Given the description of an element on the screen output the (x, y) to click on. 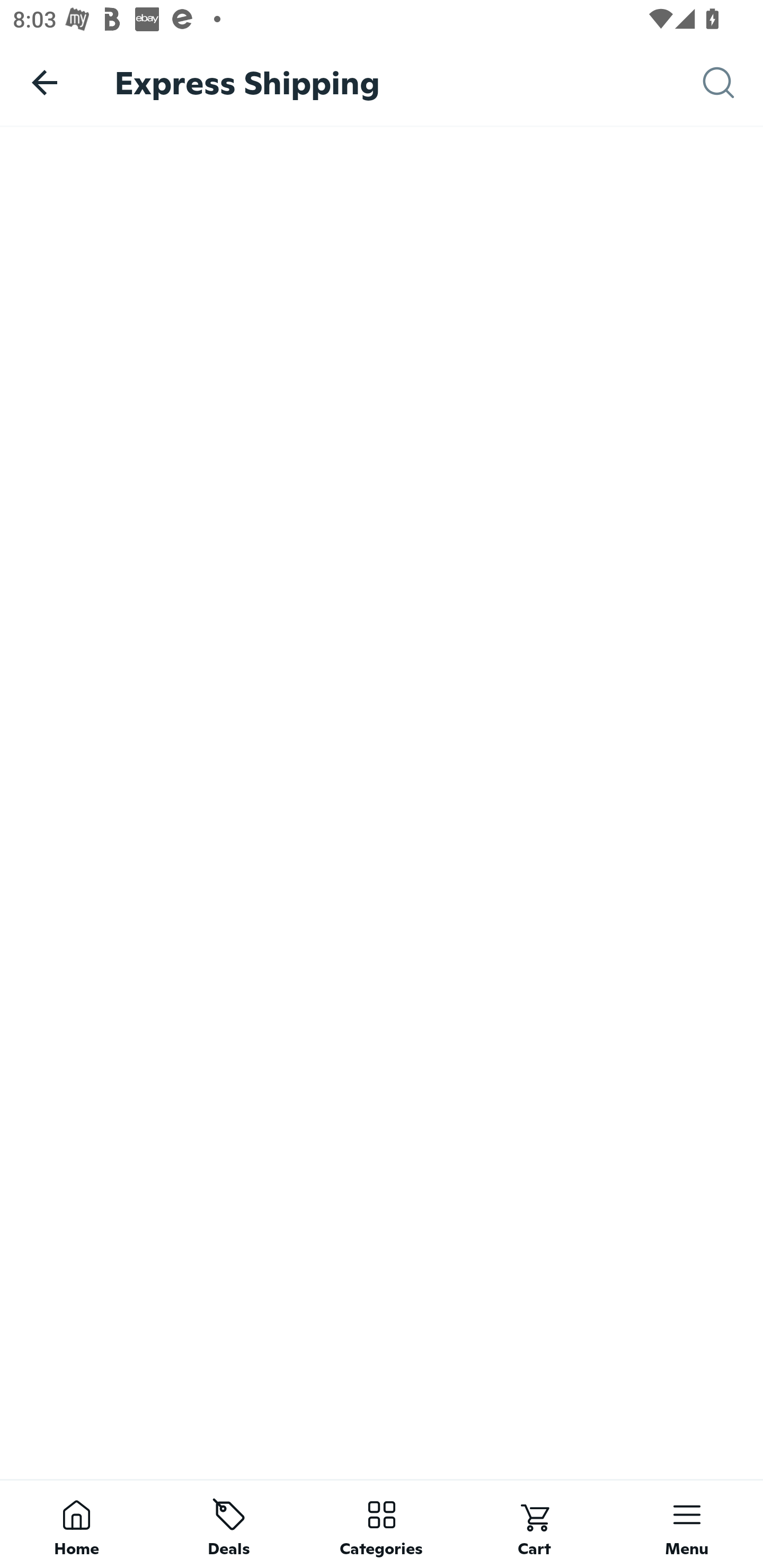
Navigate up (44, 82)
Search (732, 82)
Home (76, 1523)
Deals (228, 1523)
Categories (381, 1523)
Cart (533, 1523)
Menu (686, 1523)
